Given the description of an element on the screen output the (x, y) to click on. 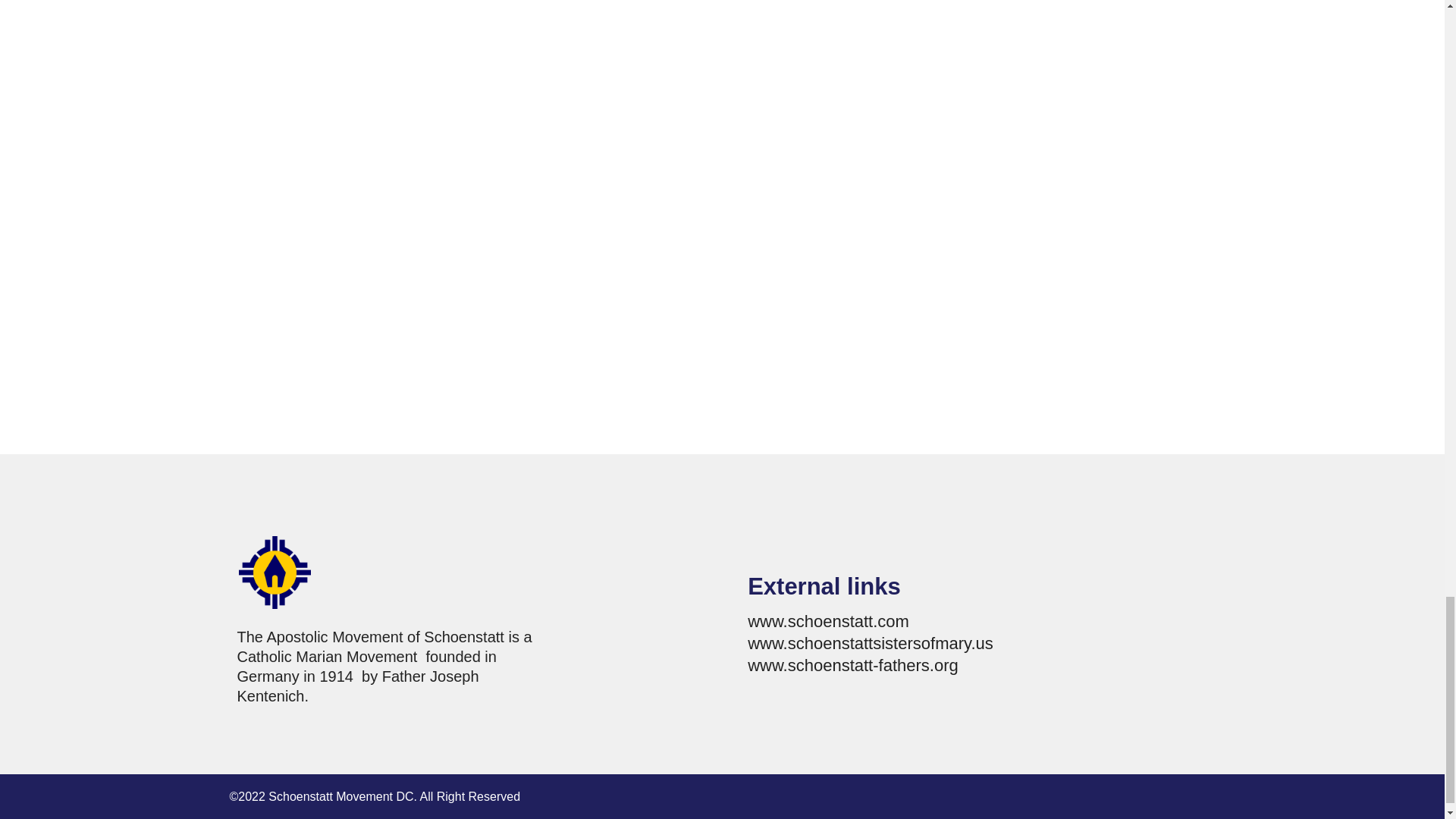
www.schoenstatt.com (828, 620)
www.schoenstattsistersofmary.us (870, 642)
www.schoenstatt-fathers.org (853, 665)
